Given the description of an element on the screen output the (x, y) to click on. 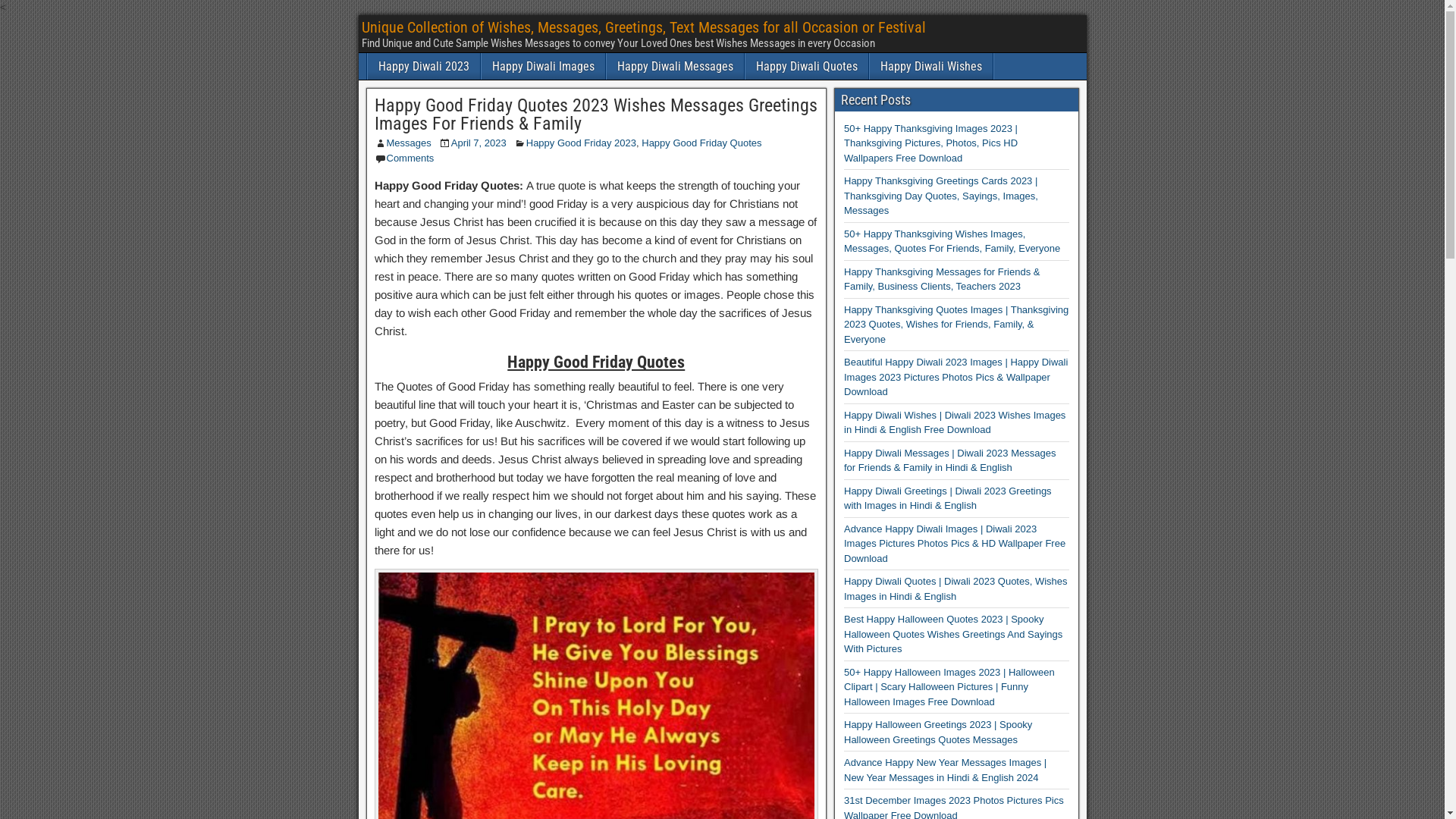
April 7, 2023 Element type: text (478, 142)
Happy Diwali 2023 Element type: text (423, 66)
Comments Element type: text (410, 157)
Happy Diwali Messages Element type: text (674, 66)
Happy Good Friday Quotes Element type: text (701, 142)
Messages Element type: text (408, 142)
Happy Diwali Quotes Element type: text (805, 66)
Happy Good Friday 2023 Element type: text (581, 142)
Happy Diwali Wishes Element type: text (930, 66)
Happy Diwali Images Element type: text (542, 66)
